Given the description of an element on the screen output the (x, y) to click on. 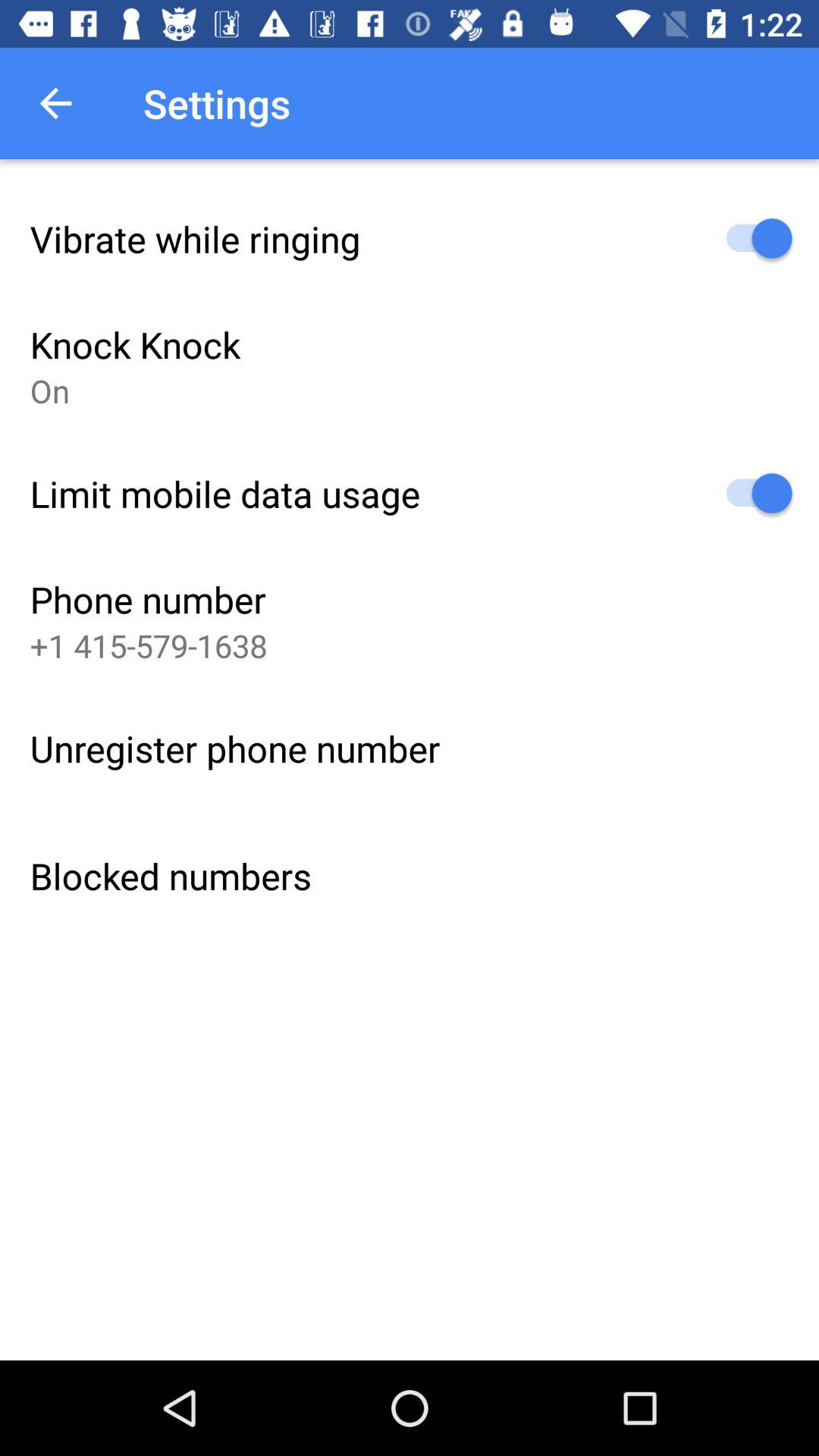
launch the icon below vibrate while ringing icon (135, 344)
